Given the description of an element on the screen output the (x, y) to click on. 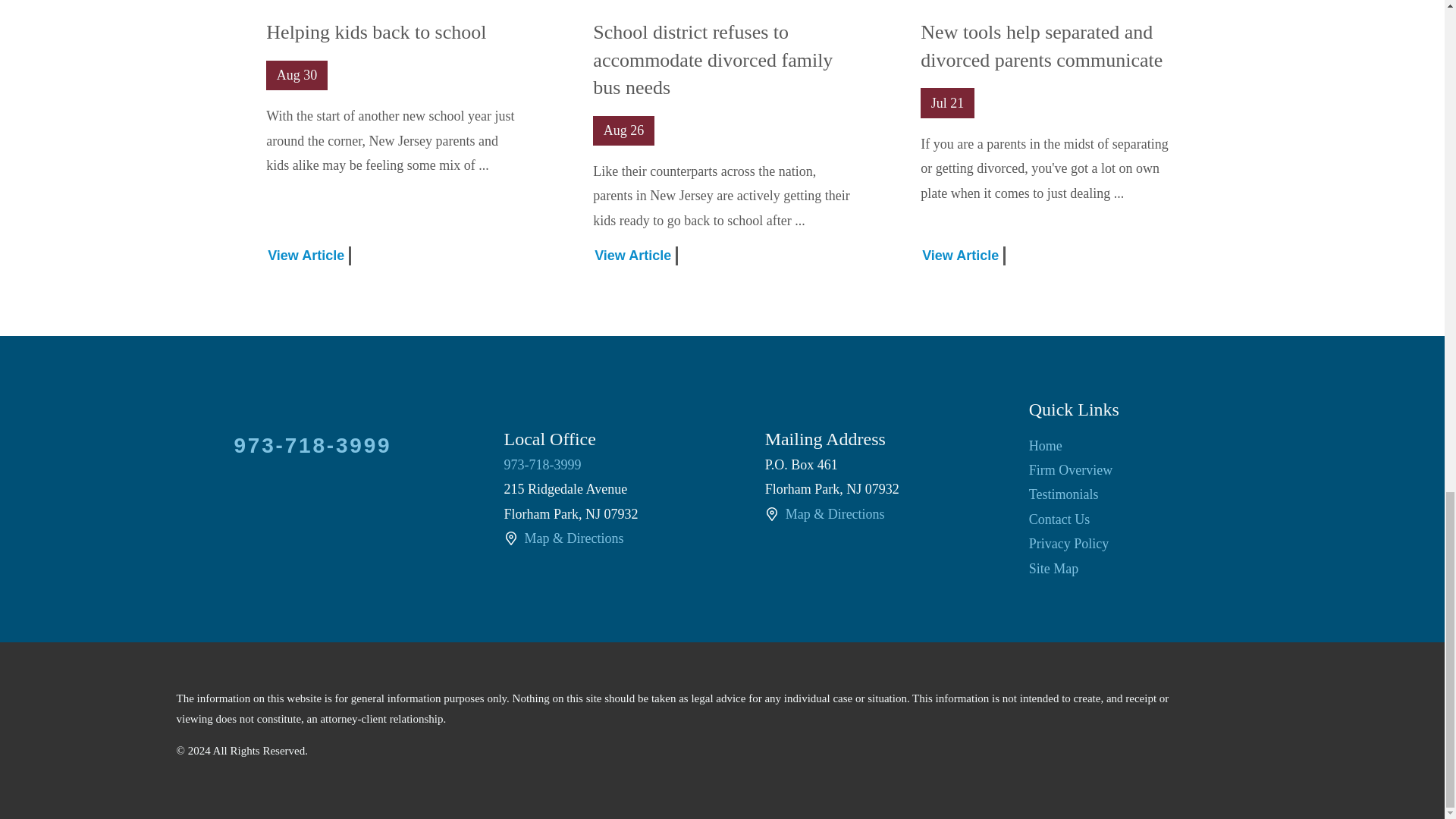
Site Icon (509, 538)
973-718-3999 (541, 464)
973-718-3999 (311, 444)
Home (1045, 445)
Site Icon (771, 513)
